Given the description of an element on the screen output the (x, y) to click on. 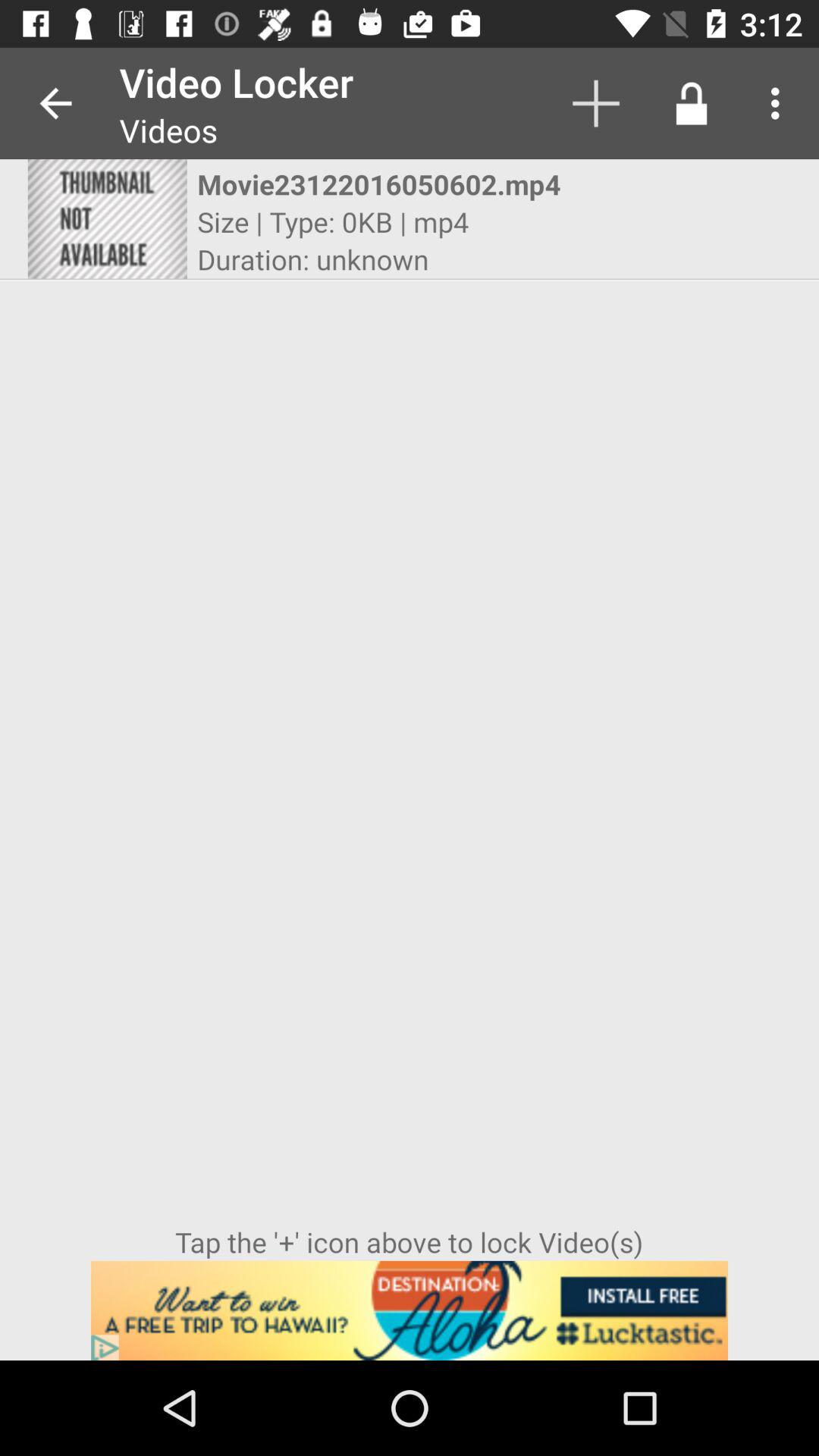
launch the item next to video locker (55, 103)
